Given the description of an element on the screen output the (x, y) to click on. 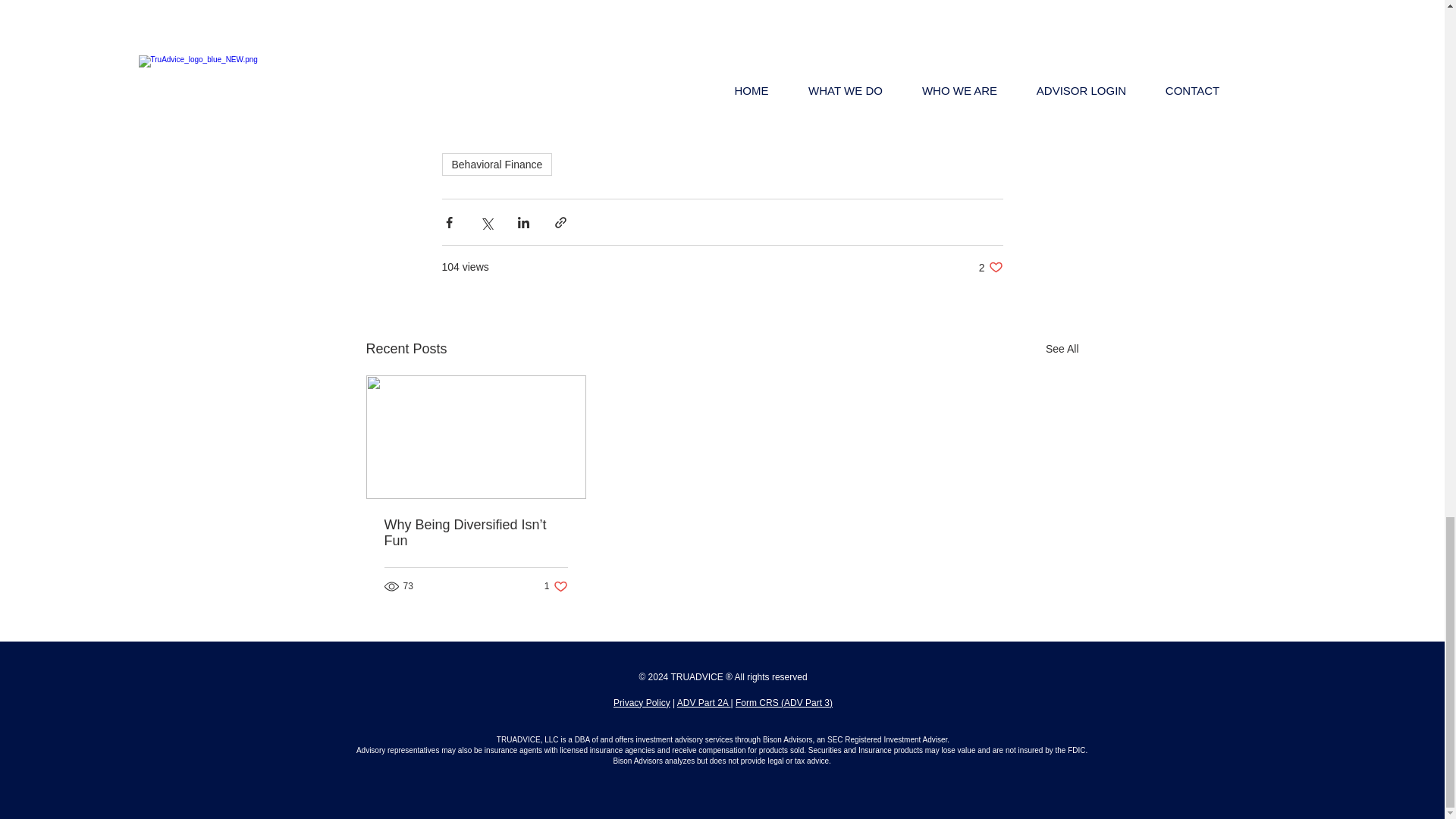
Privacy Policy (640, 702)
See All (1061, 349)
Behavioral Finance (496, 164)
ADV Part 2A  (990, 267)
